Given the description of an element on the screen output the (x, y) to click on. 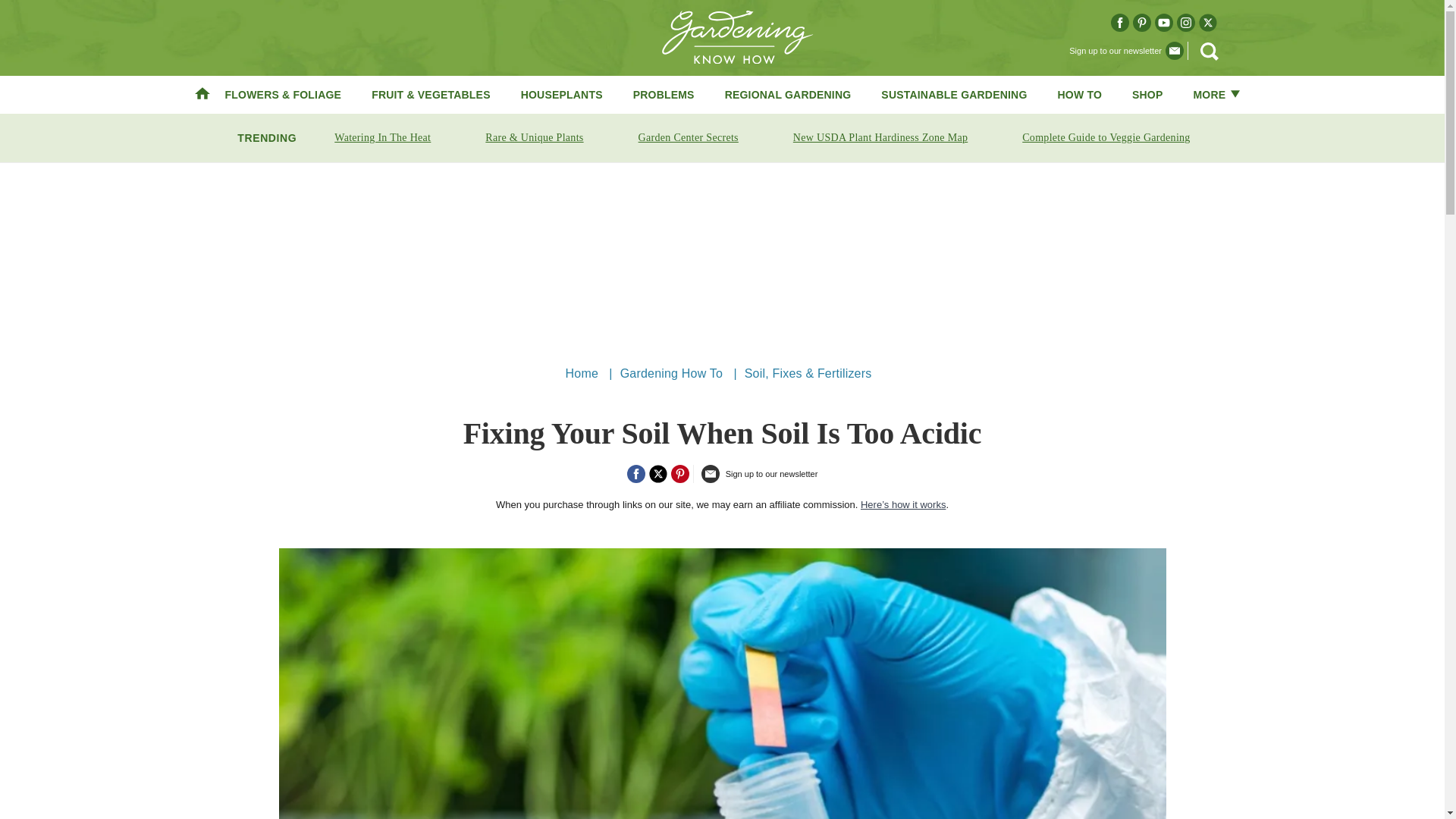
HOW TO (1080, 94)
HOUSEPLANTS (561, 94)
REGIONAL GARDENING (788, 94)
SUSTAINABLE GARDENING (953, 94)
PROBLEMS (663, 94)
